Given the description of an element on the screen output the (x, y) to click on. 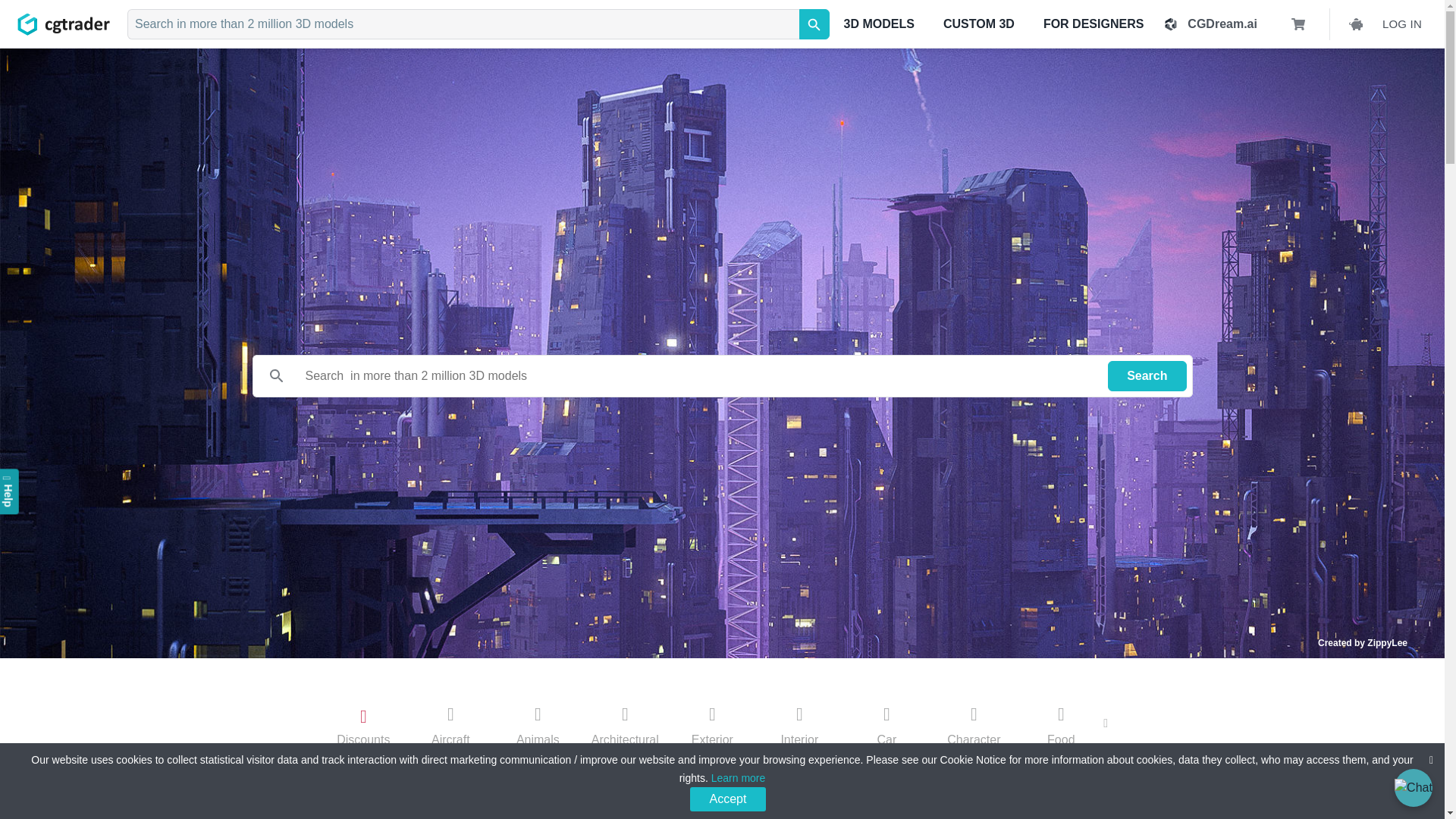
3D MODELS (878, 24)
Accept (727, 799)
Learn more (738, 777)
CUSTOM 3D (978, 24)
